Given the description of an element on the screen output the (x, y) to click on. 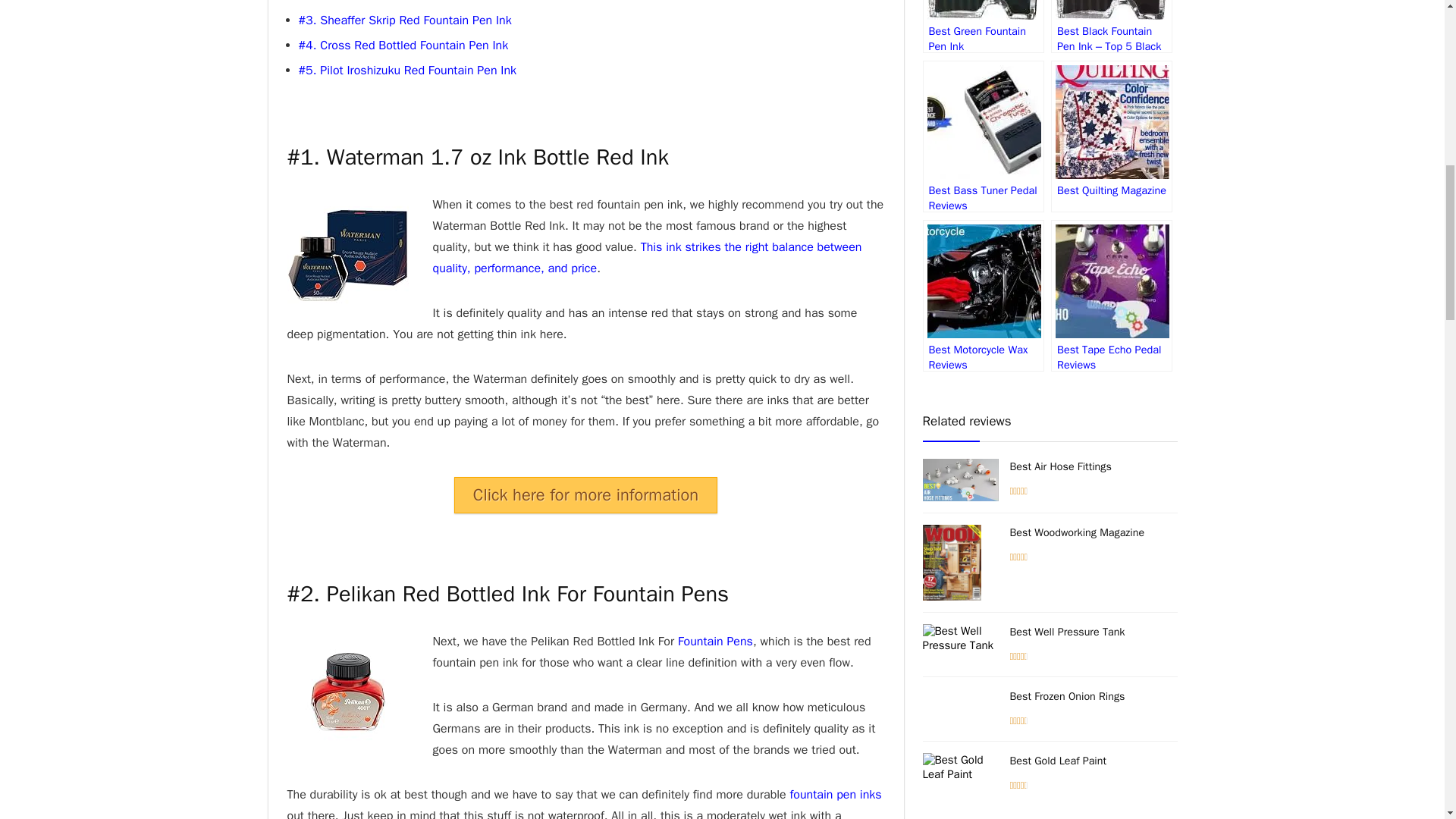
Fountain Pens (715, 641)
Click here for more information (585, 494)
fountain pen inks (836, 794)
